Given the description of an element on the screen output the (x, y) to click on. 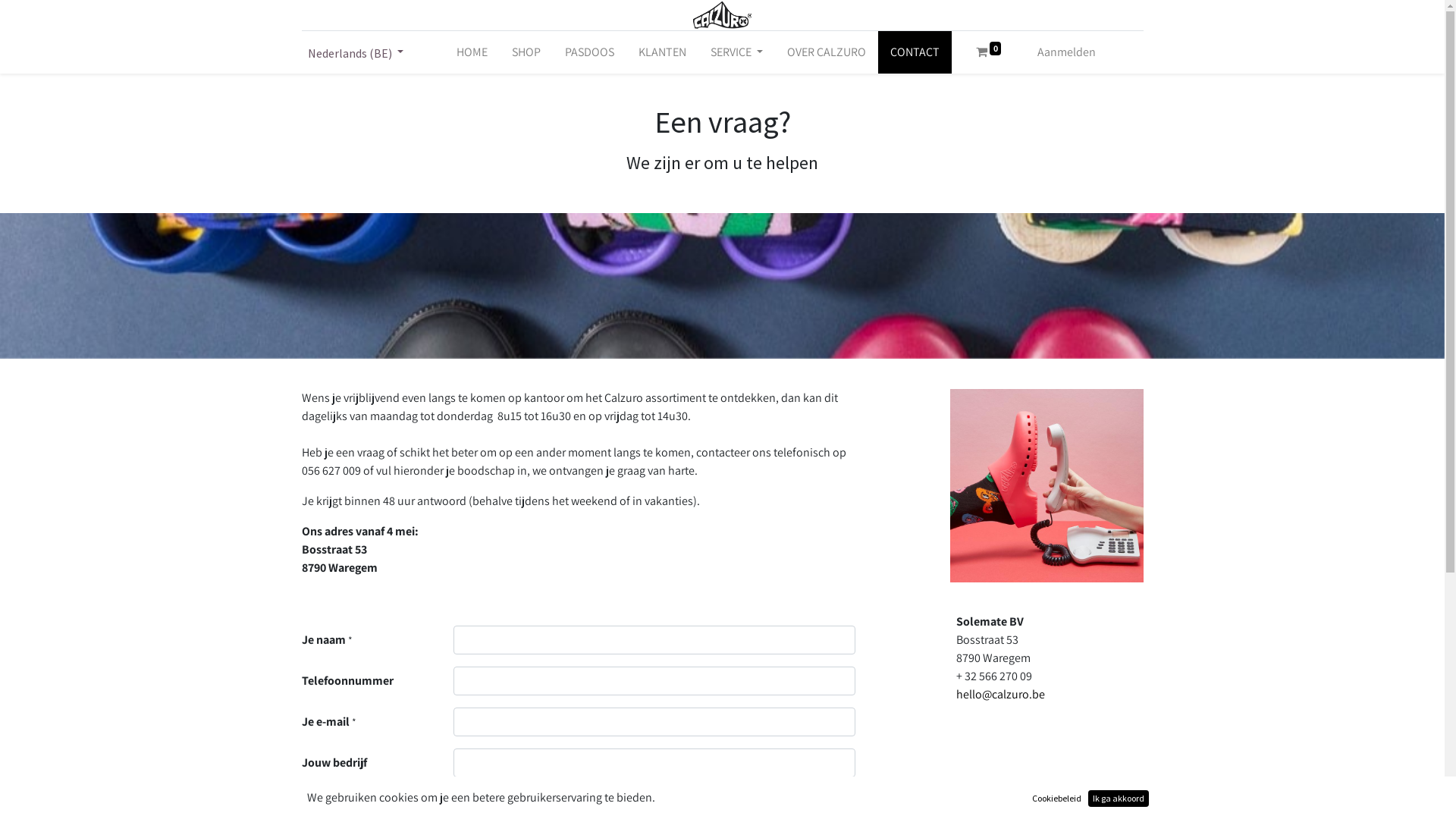
Ik ga akkoord Element type: text (1118, 798)
CONTACT Element type: text (914, 52)
Calzuro Element type: hover (721, 15)
SERVICE Element type: text (736, 52)
KLANTEN Element type: text (662, 52)
OVER CALZURO Element type: text (826, 52)
Nederlands (BE) Element type: text (355, 51)
hello@calzuro.be Element type: text (999, 694)
Aanmelden Element type: text (1066, 52)
0 Element type: text (988, 52)
Cookiebeleid Element type: text (1056, 798)
PASDOOS Element type: text (589, 52)
SHOP Element type: text (525, 52)
HOME Element type: text (471, 52)
